Given the description of an element on the screen output the (x, y) to click on. 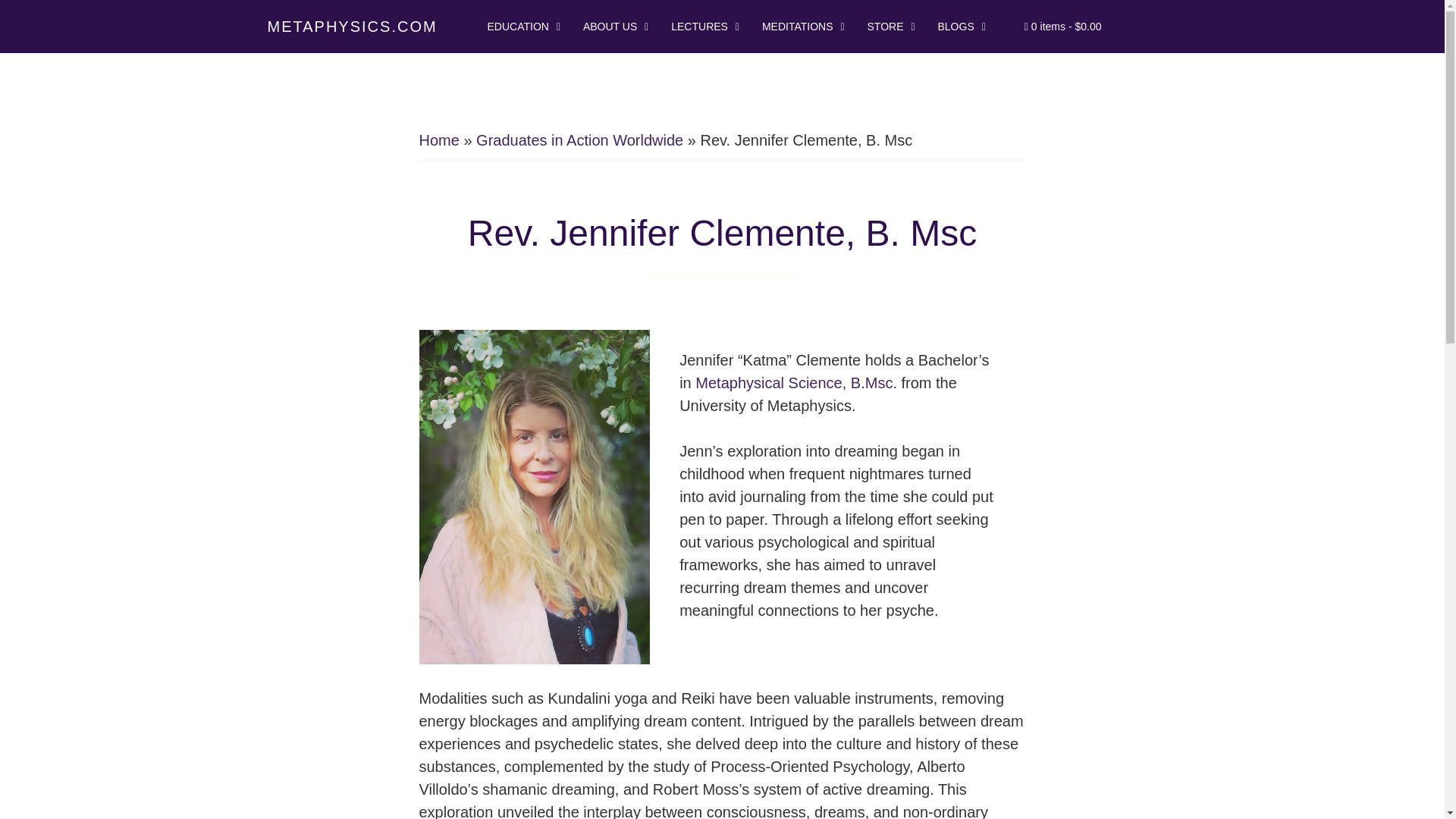
Start shopping (1063, 26)
EDUCATION (519, 26)
LECTURES (701, 26)
MEDITATIONS (798, 26)
ABOUT US (611, 26)
METAPHYSICS.COM (351, 26)
STORE (887, 26)
